Given the description of an element on the screen output the (x, y) to click on. 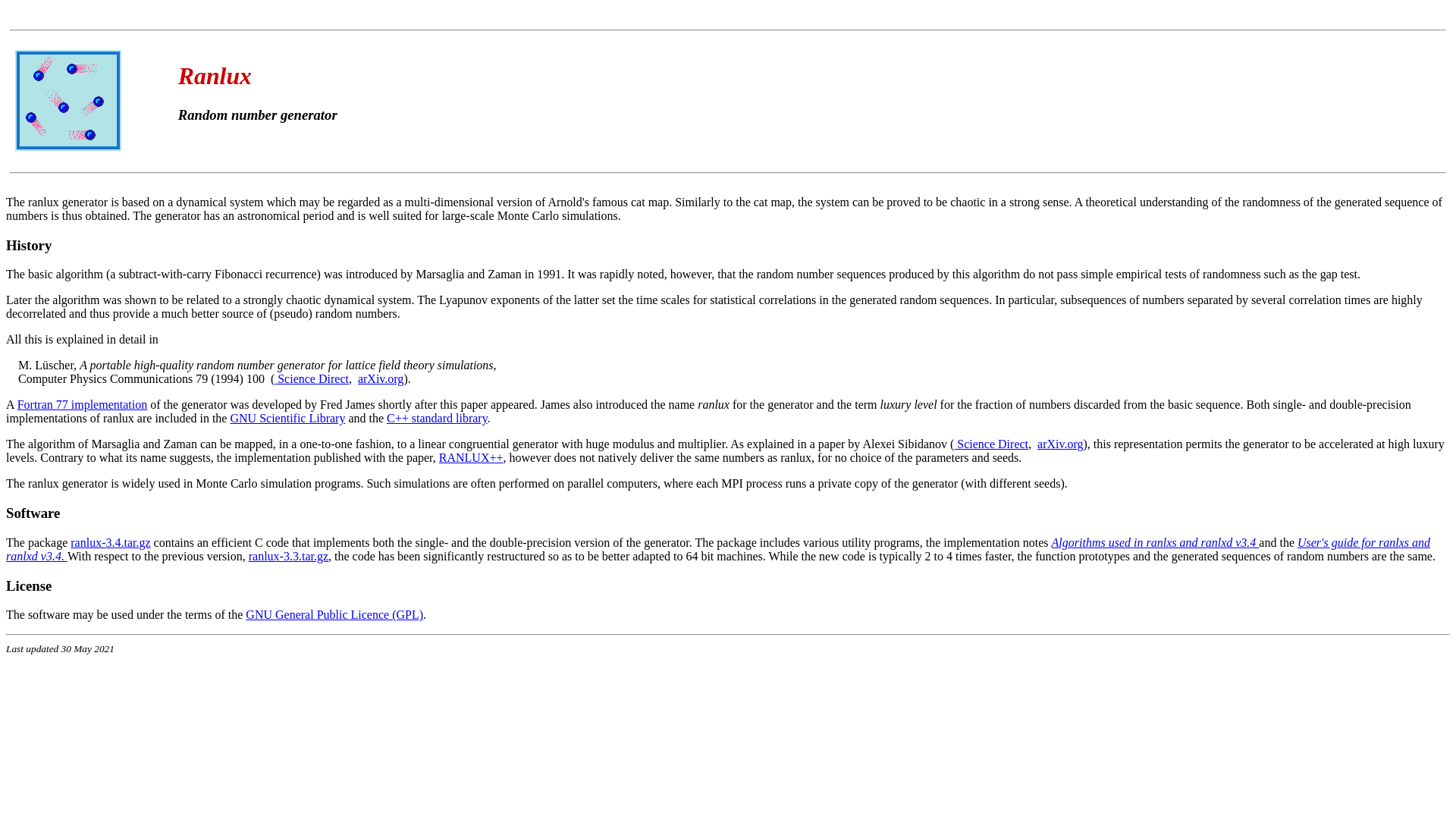
arXiv.org Element type: text (1059, 443)
arXiv.org Element type: text (380, 378)
User's guide for ranlxs and ranlxd v3.4. Element type: text (718, 549)
GNU General Public Licence (GPL) Element type: text (334, 614)
C++ standard library Element type: text (436, 417)
Algorithms used in ranlxs and ranlxd v3.4 Element type: text (1155, 542)
GNU Scientific Library Element type: text (287, 417)
ranlux-3.4.tar.gz Element type: text (110, 542)
Fortran 77 implementation Element type: text (82, 404)
ranlux-3.3.tar.gz Element type: text (288, 555)
Science Direct Element type: text (990, 443)
Science Direct Element type: text (311, 378)
RANLUX++ Element type: text (471, 457)
